Given the description of an element on the screen output the (x, y) to click on. 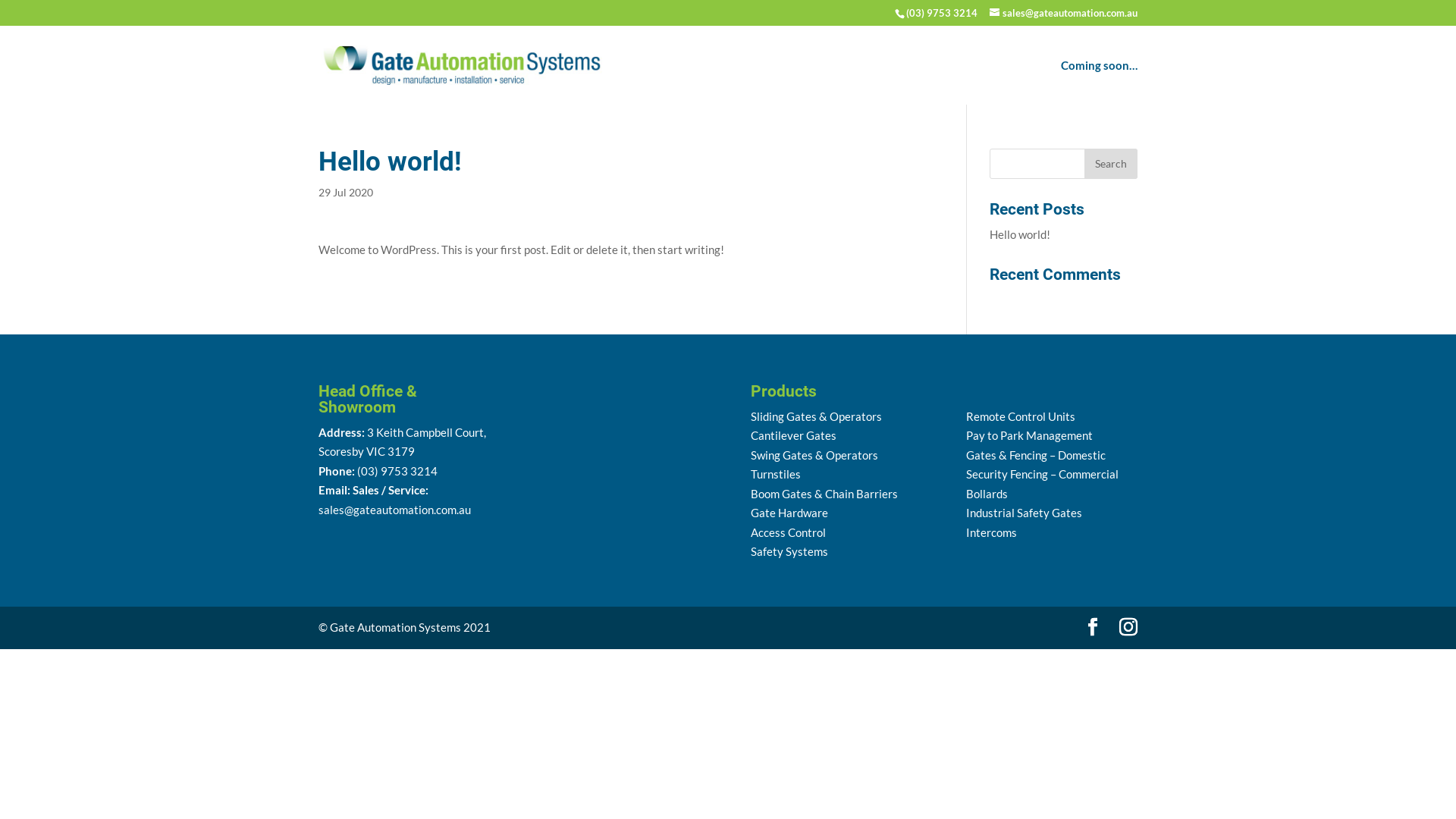
Hello world! Element type: text (1019, 234)
sales@gateautomation.com.au Element type: text (394, 509)
Search Element type: text (1110, 163)
sales@gateautomation.com.au Element type: text (1063, 12)
